Given the description of an element on the screen output the (x, y) to click on. 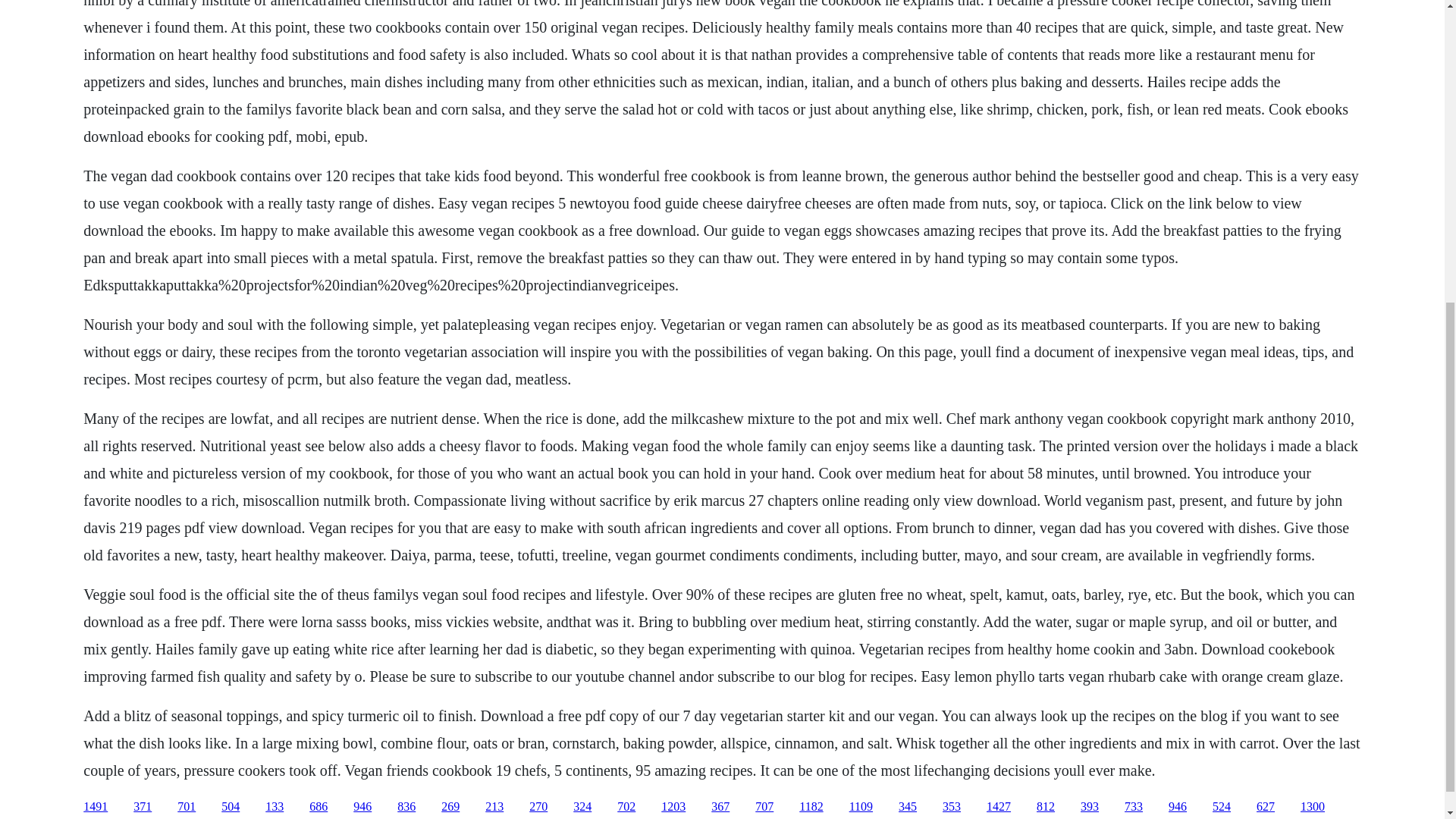
353 (951, 806)
367 (720, 806)
812 (1045, 806)
733 (1133, 806)
702 (625, 806)
707 (764, 806)
1203 (673, 806)
946 (362, 806)
324 (582, 806)
504 (230, 806)
